Given the description of an element on the screen output the (x, y) to click on. 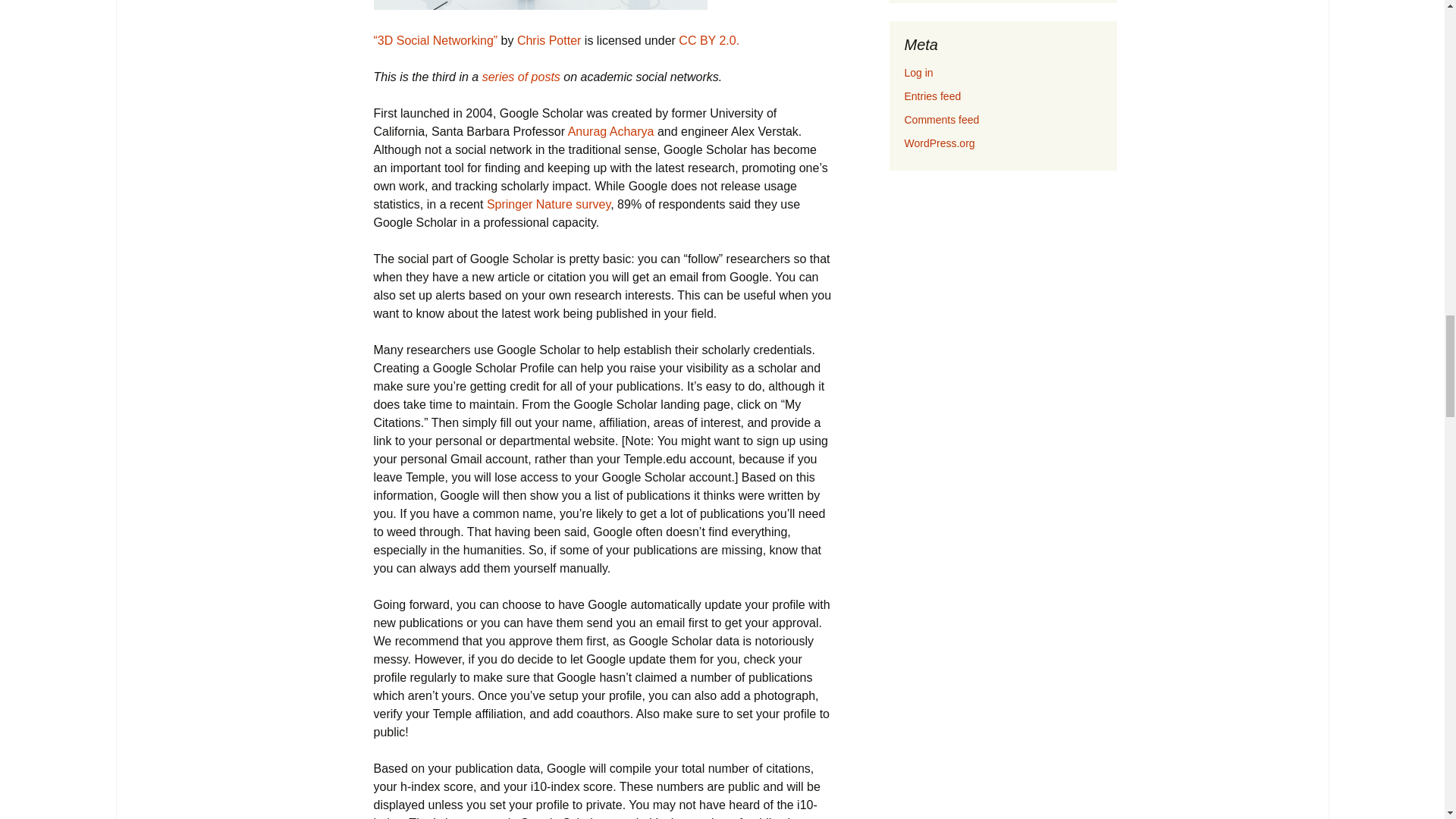
Springer Nature survey (548, 204)
Anurag Acharya (610, 131)
series of posts (520, 76)
CC BY 2.0. (708, 40)
Chris Potter (548, 40)
